Given the description of an element on the screen output the (x, y) to click on. 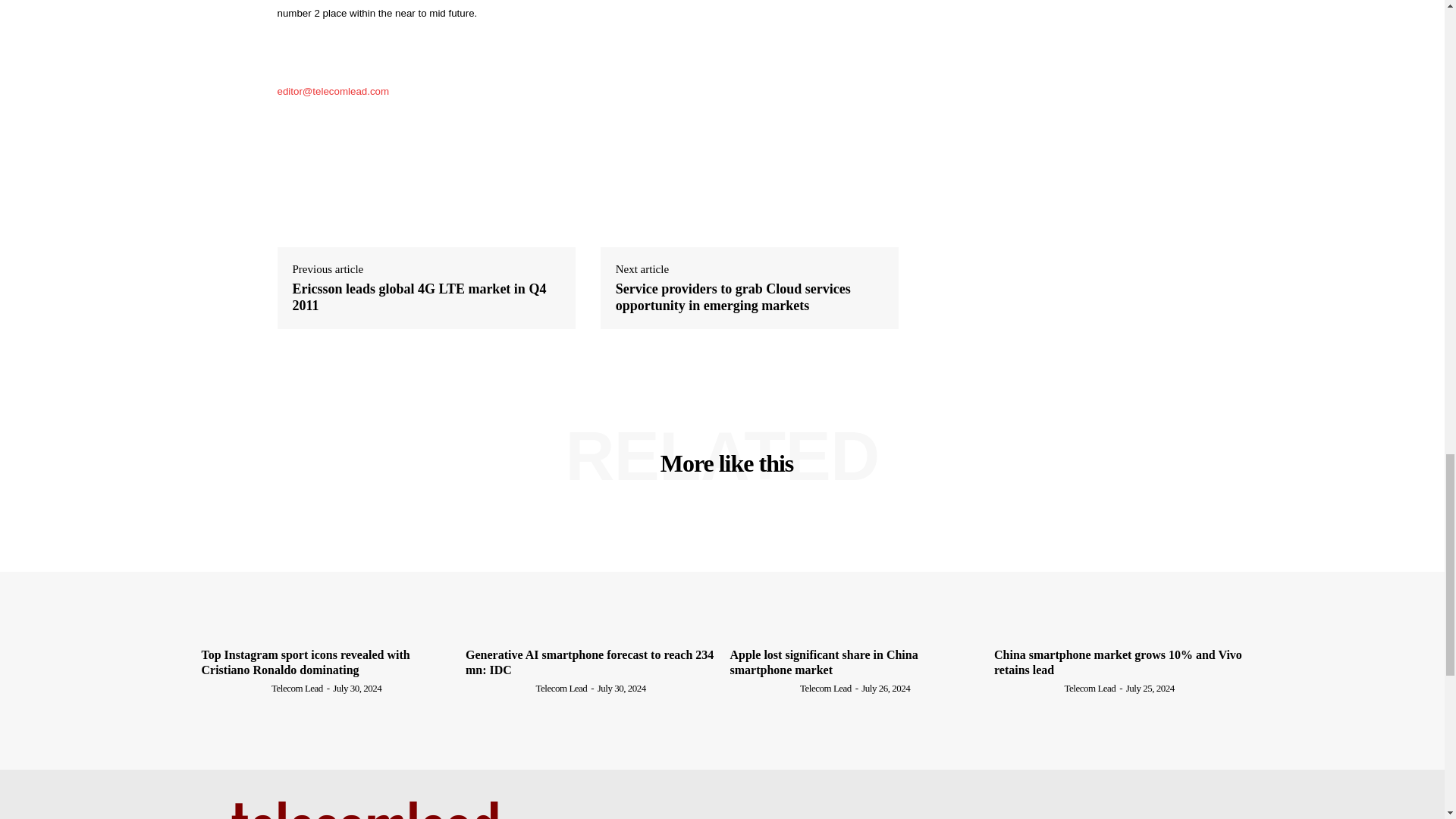
Ericsson leads global 4G LTE market in Q4 2011 (426, 297)
